Given the description of an element on the screen output the (x, y) to click on. 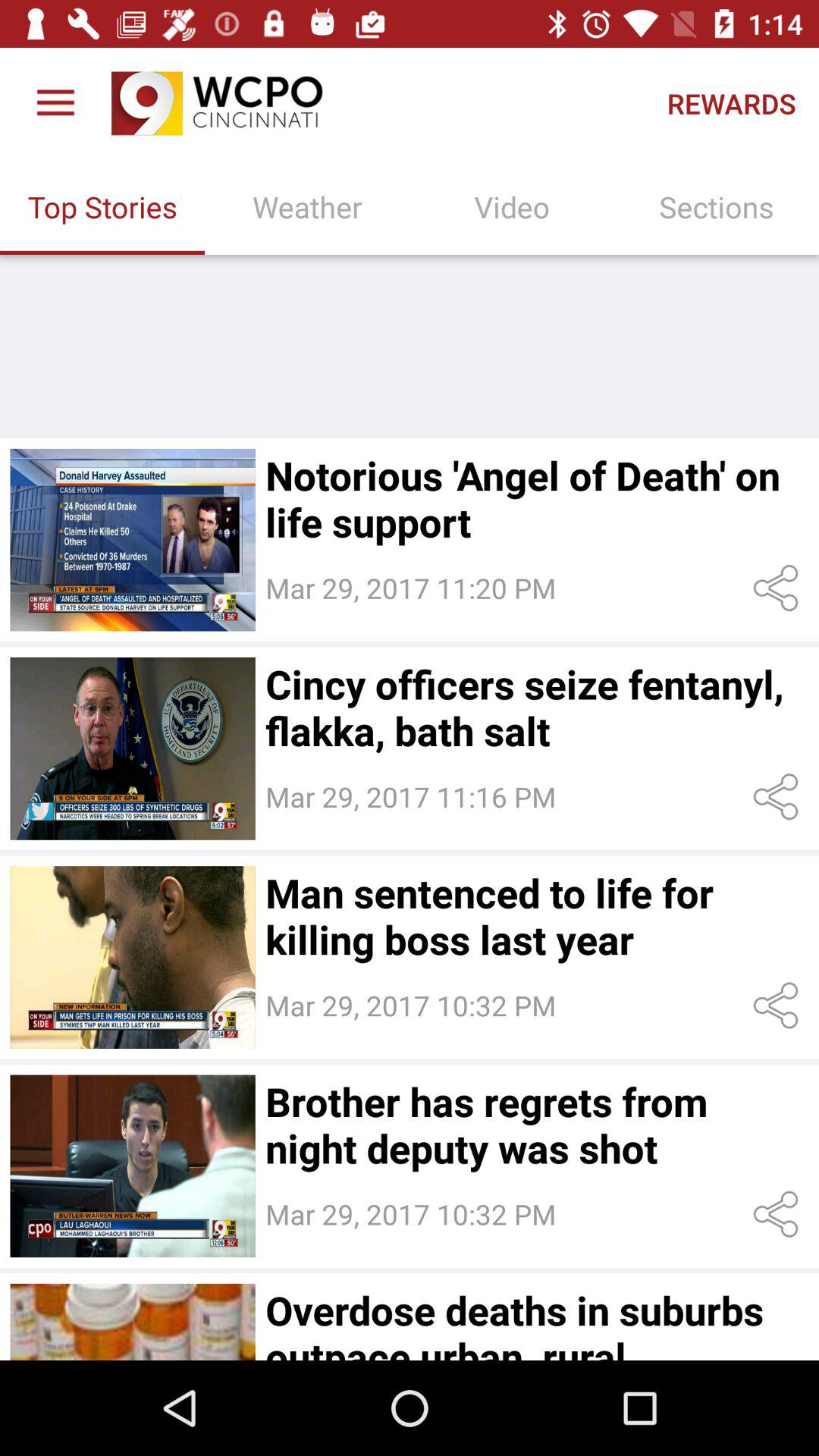
read story (132, 748)
